Given the description of an element on the screen output the (x, y) to click on. 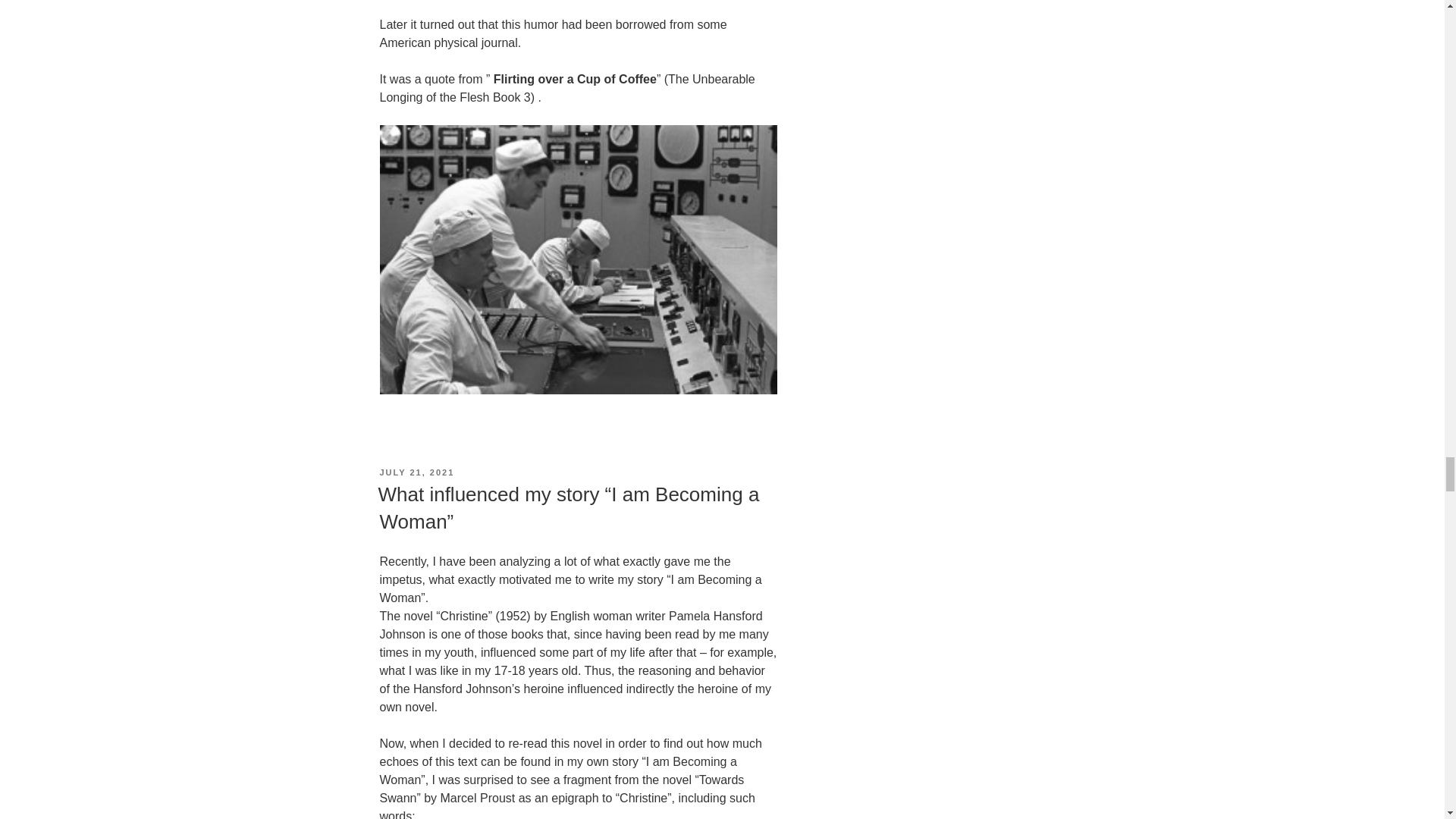
JULY 21, 2021 (416, 471)
